Given the description of an element on the screen output the (x, y) to click on. 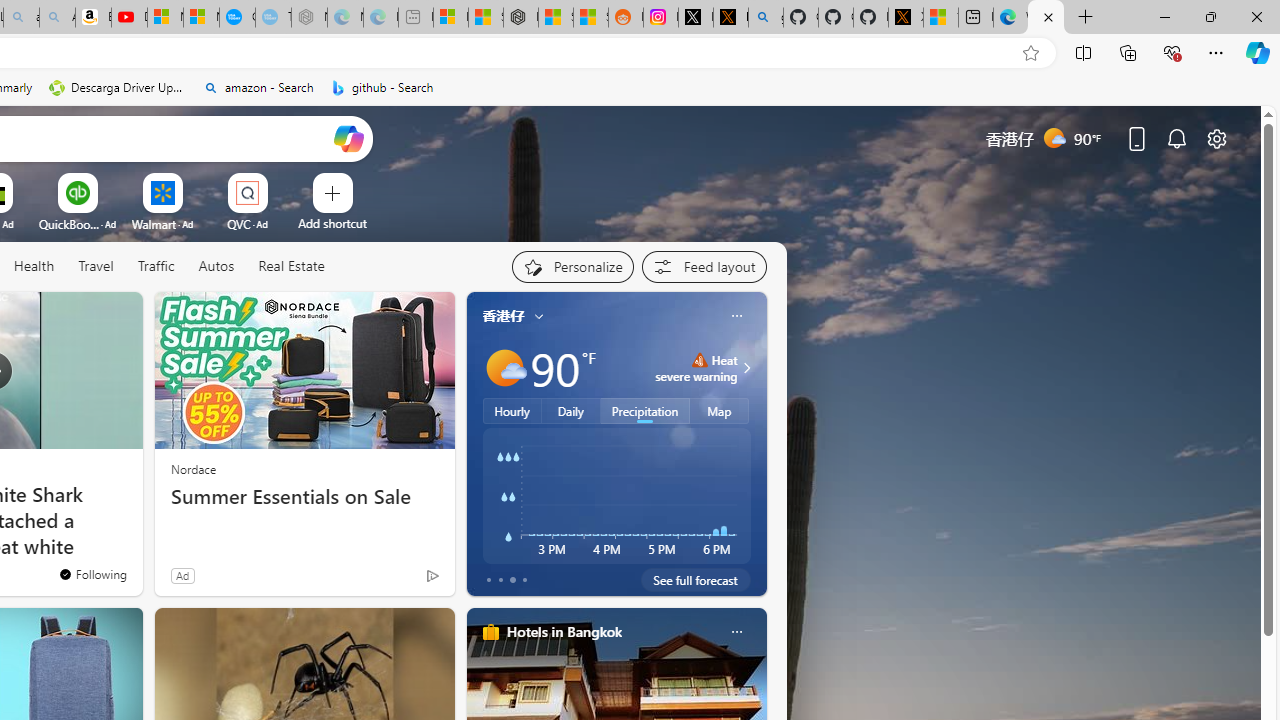
You're following FOX News (92, 573)
amazon - Search (258, 88)
Map (719, 411)
Daily (571, 411)
New tab - Sleeping (415, 17)
Travel (95, 267)
Notifications (1176, 138)
tab-3 (524, 579)
